Given the description of an element on the screen output the (x, y) to click on. 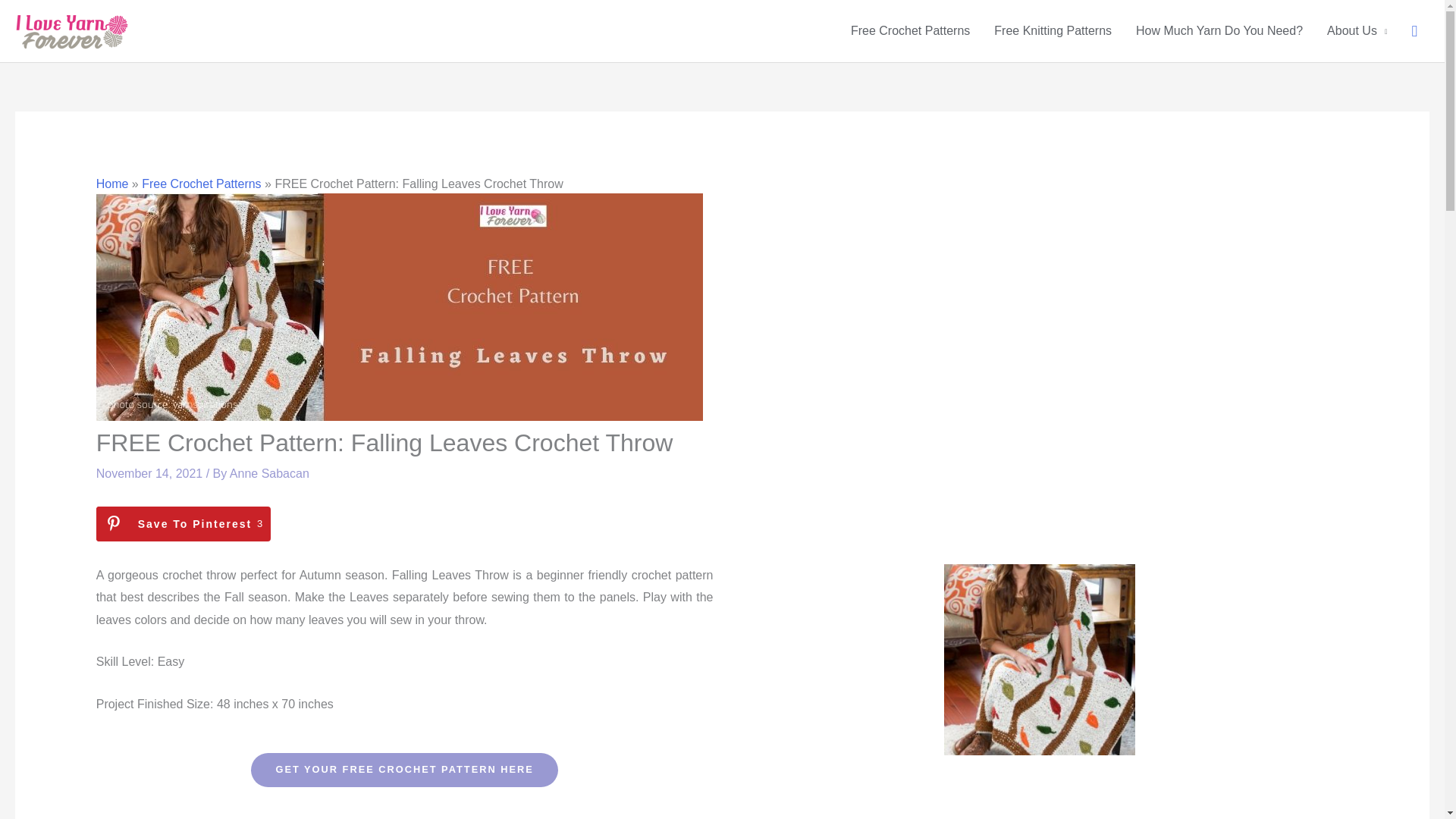
Save to Pinterest (183, 523)
GET YOUR FREE CROCHET PATTERN HERE (183, 523)
Home (403, 769)
About Us (112, 183)
View all posts by Anne Sabacan (1356, 30)
How Much Yarn Do You Need? (269, 472)
Free Crochet Patterns (1219, 30)
Free Crochet Patterns (909, 30)
Free Knitting Patterns (200, 183)
Anne Sabacan (1052, 30)
